Given the description of an element on the screen output the (x, y) to click on. 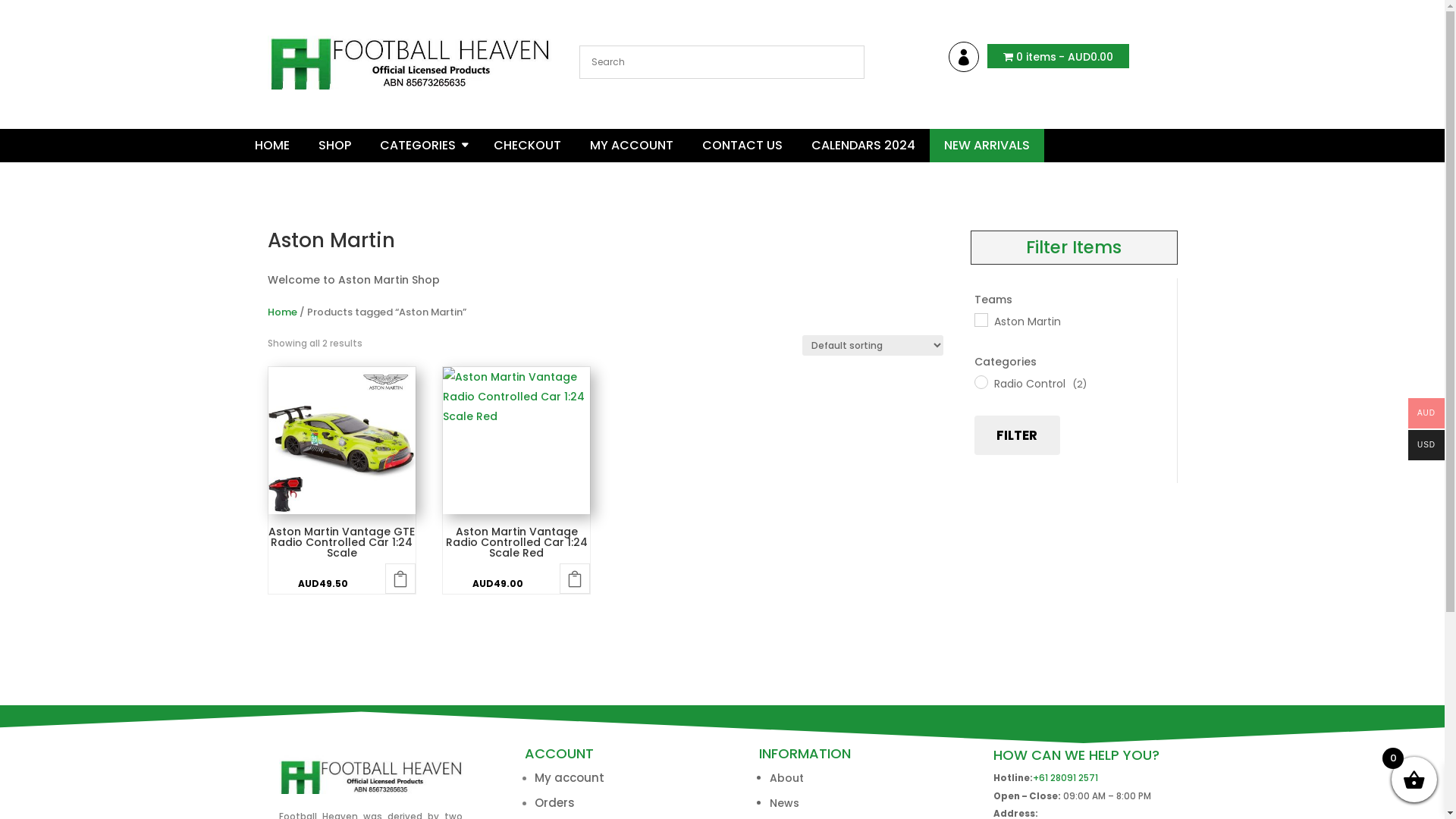
CALENDARS 2024 Element type: text (863, 145)
CATEGORIES Element type: text (421, 145)
FILTER Element type: text (1016, 435)
Orders Element type: text (553, 802)
CONTACT US Element type: text (742, 145)
About Element type: text (785, 777)
Home Element type: text (281, 311)
MY ACCOUNT Element type: text (631, 145)
NEW ARRIVALS Element type: text (986, 145)
submit Element type: text (831, 599)
My account Element type: text (963, 55)
My account Element type: text (568, 777)
ADD TO CART Element type: text (574, 578)
+61 28091 2571 Element type: text (1065, 777)
News Element type: text (783, 802)
CHECKOUT Element type: text (526, 145)
logo_new Element type: hover (409, 55)
SHOP Element type: text (334, 145)
ADD TO CART Element type: text (400, 578)
HOME Element type: text (271, 145)
0 itemsAUD0.00 Element type: text (1057, 55)
